Given the description of an element on the screen output the (x, y) to click on. 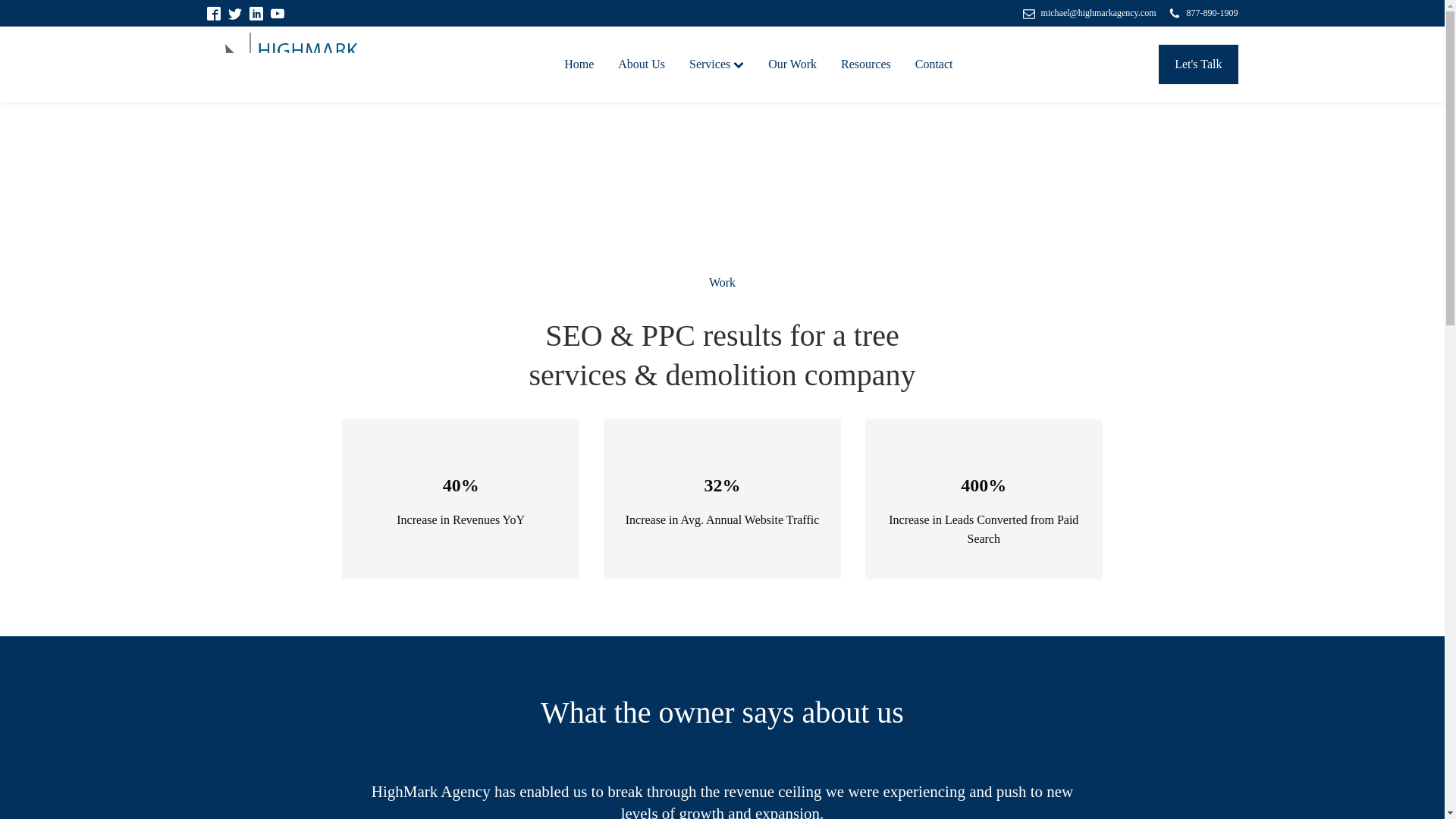
Contact (933, 64)
877-890-1909 (1202, 12)
Let's Talk (1197, 64)
Resources (865, 64)
About Us (641, 64)
Home (578, 64)
Services (716, 64)
Our Work (791, 64)
